Given the description of an element on the screen output the (x, y) to click on. 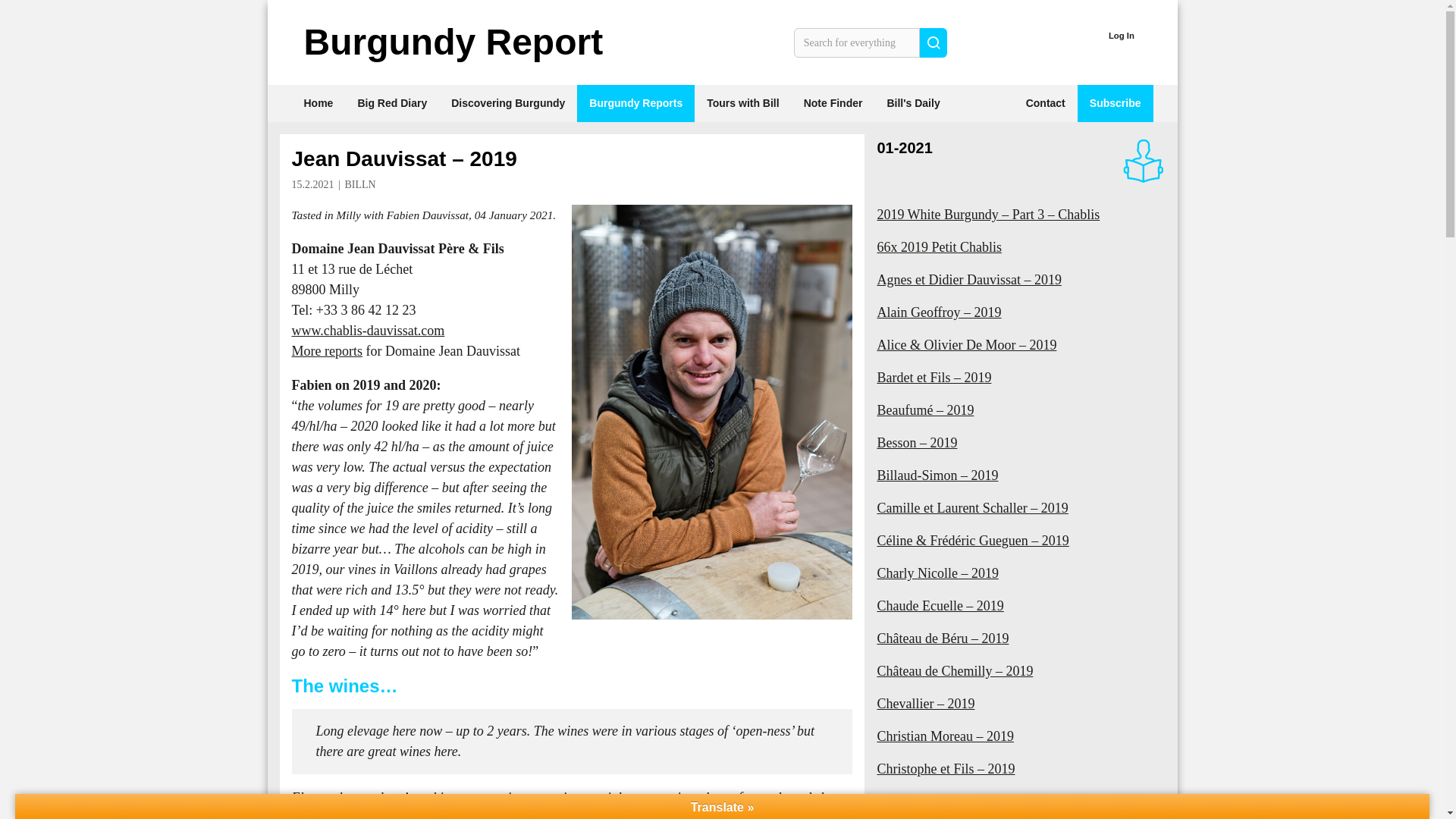
66x 2019 Petit Chablis (1020, 246)
01-2021 (903, 147)
More reports (326, 350)
www.chablis-dauvissat.com (367, 330)
BILLN (359, 184)
www.chablis-dauvissat.com (367, 330)
